Given the description of an element on the screen output the (x, y) to click on. 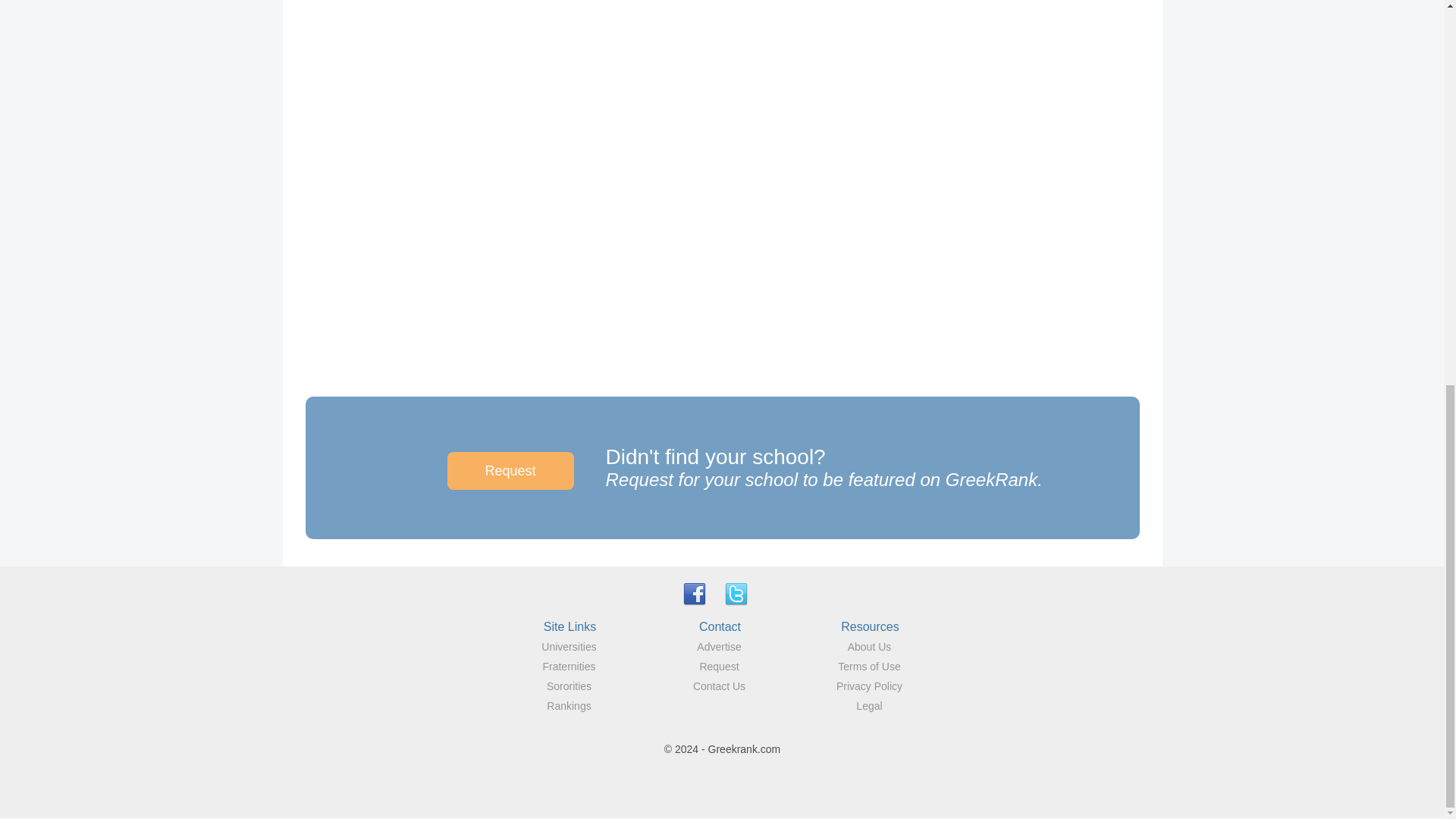
Contact Us (719, 686)
Fraternities (568, 666)
Follow GreekRank Facebook (694, 593)
Follow GreekRank Twitter (735, 593)
Request (509, 470)
Universities (568, 646)
About Us (869, 646)
Rankings (569, 705)
Sororities (569, 686)
Request (718, 666)
Advertise (719, 646)
